Given the description of an element on the screen output the (x, y) to click on. 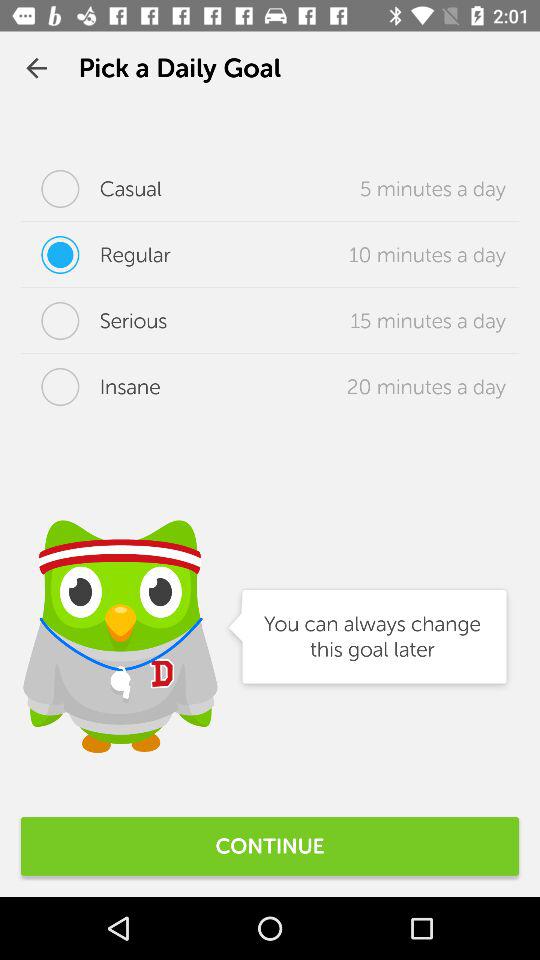
click the icon to the left of the 5 minutes a icon (91, 188)
